Given the description of an element on the screen output the (x, y) to click on. 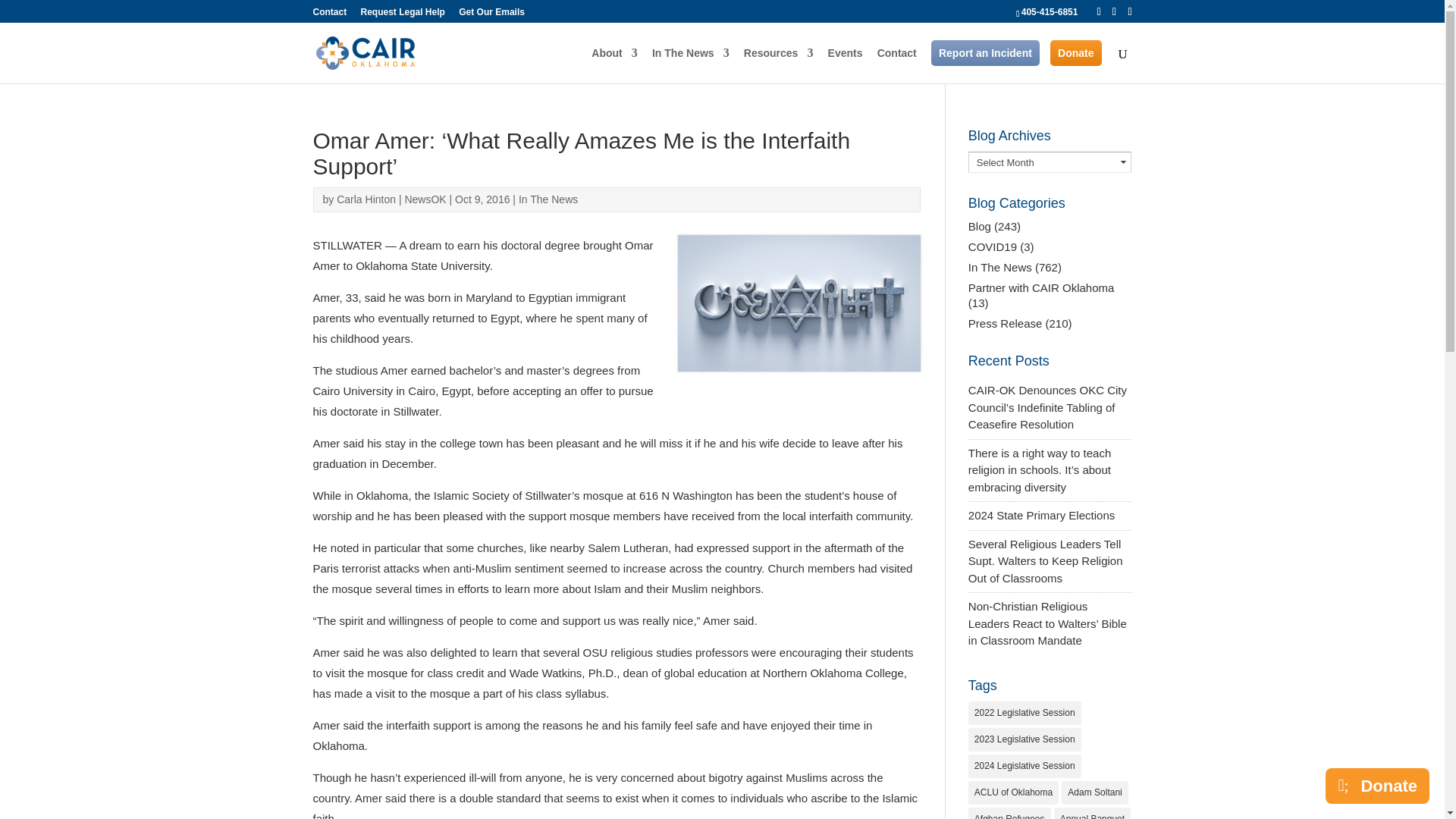
NewsOK (424, 199)
Contact (897, 65)
Partner with CAIR Oklahoma (1041, 287)
Resources (778, 65)
In The News (690, 65)
Blog (979, 226)
Press Release (1005, 323)
COVID19 (992, 246)
Get Our Emails (491, 15)
Request Legal Help (403, 15)
